Given the description of an element on the screen output the (x, y) to click on. 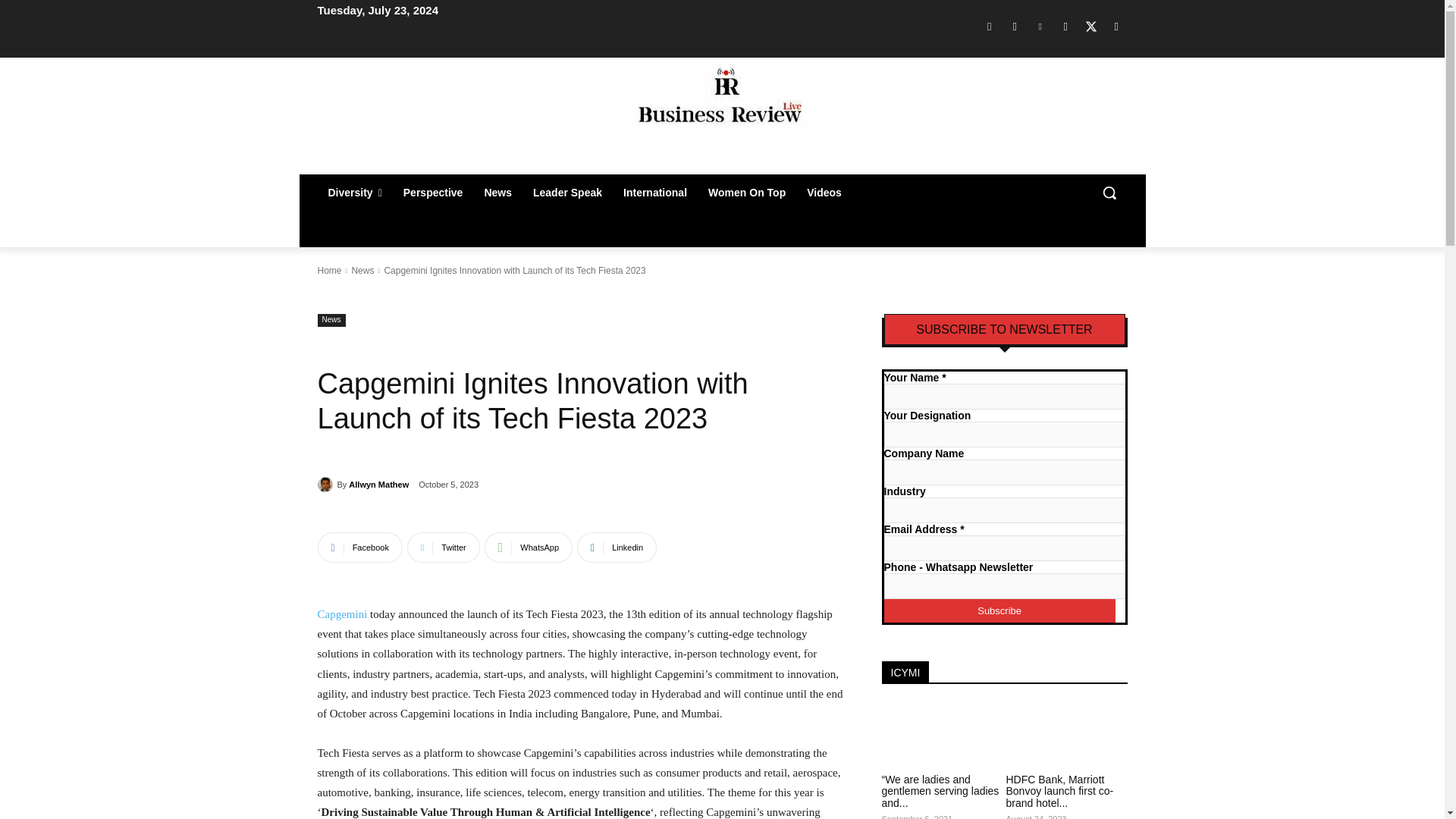
International (654, 192)
Leader Speak (567, 192)
Twitter (1091, 26)
News (497, 192)
Perspective (433, 192)
Subscribe (999, 610)
Women On Top (746, 192)
Linkedin (1040, 26)
Facebook (989, 26)
Diversity (354, 192)
Instagram (1015, 26)
Mail (1065, 26)
